Given the description of an element on the screen output the (x, y) to click on. 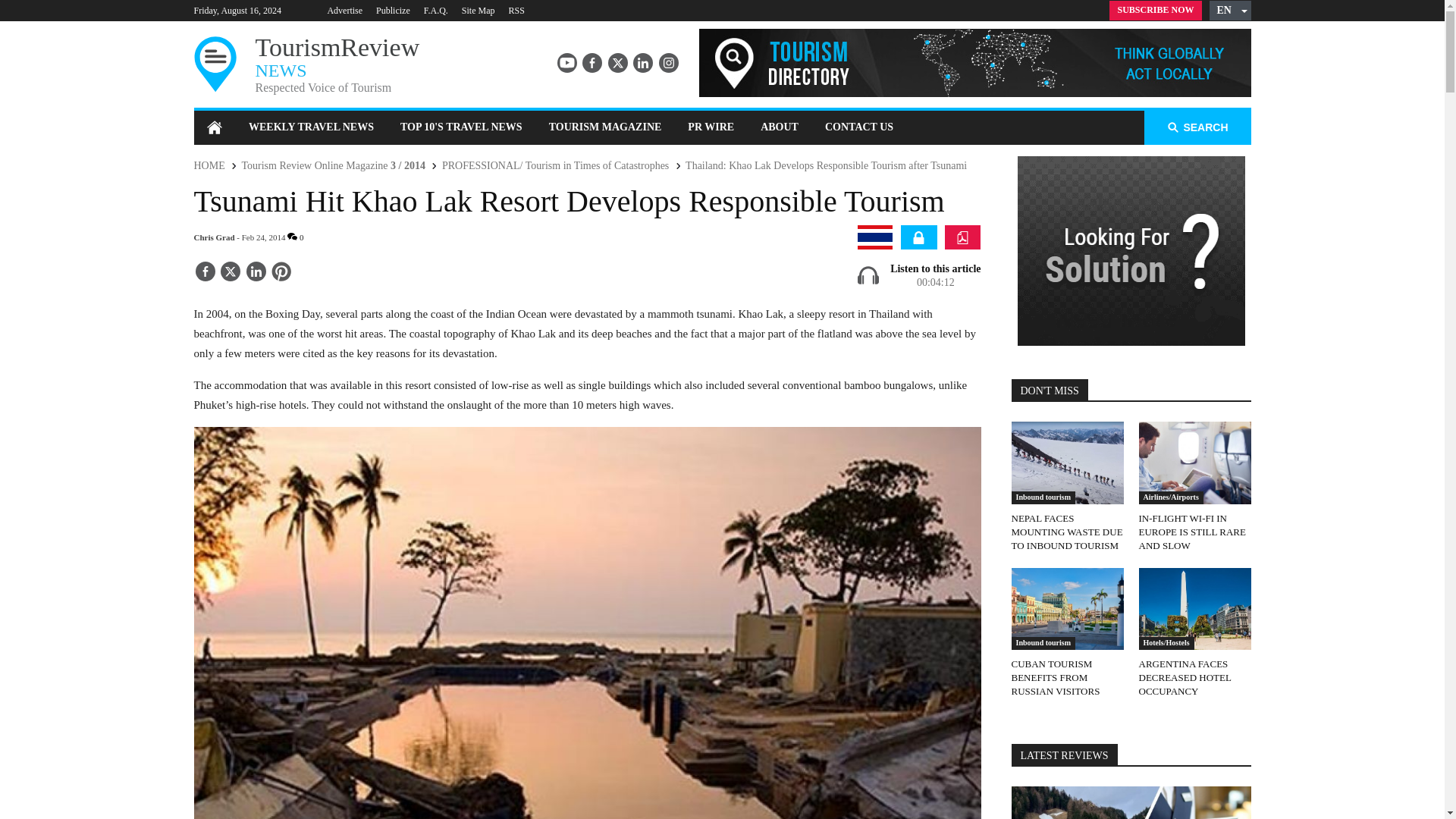
PR WIRE (711, 127)
HOME (209, 165)
Article in pdf (961, 237)
WEEKLY TRAVEL NEWS (310, 127)
Advertise (344, 9)
SEARCH (1197, 126)
SUBSCRIBE NOW (1155, 10)
Safe and security travel coverage news (918, 237)
